Given the description of an element on the screen output the (x, y) to click on. 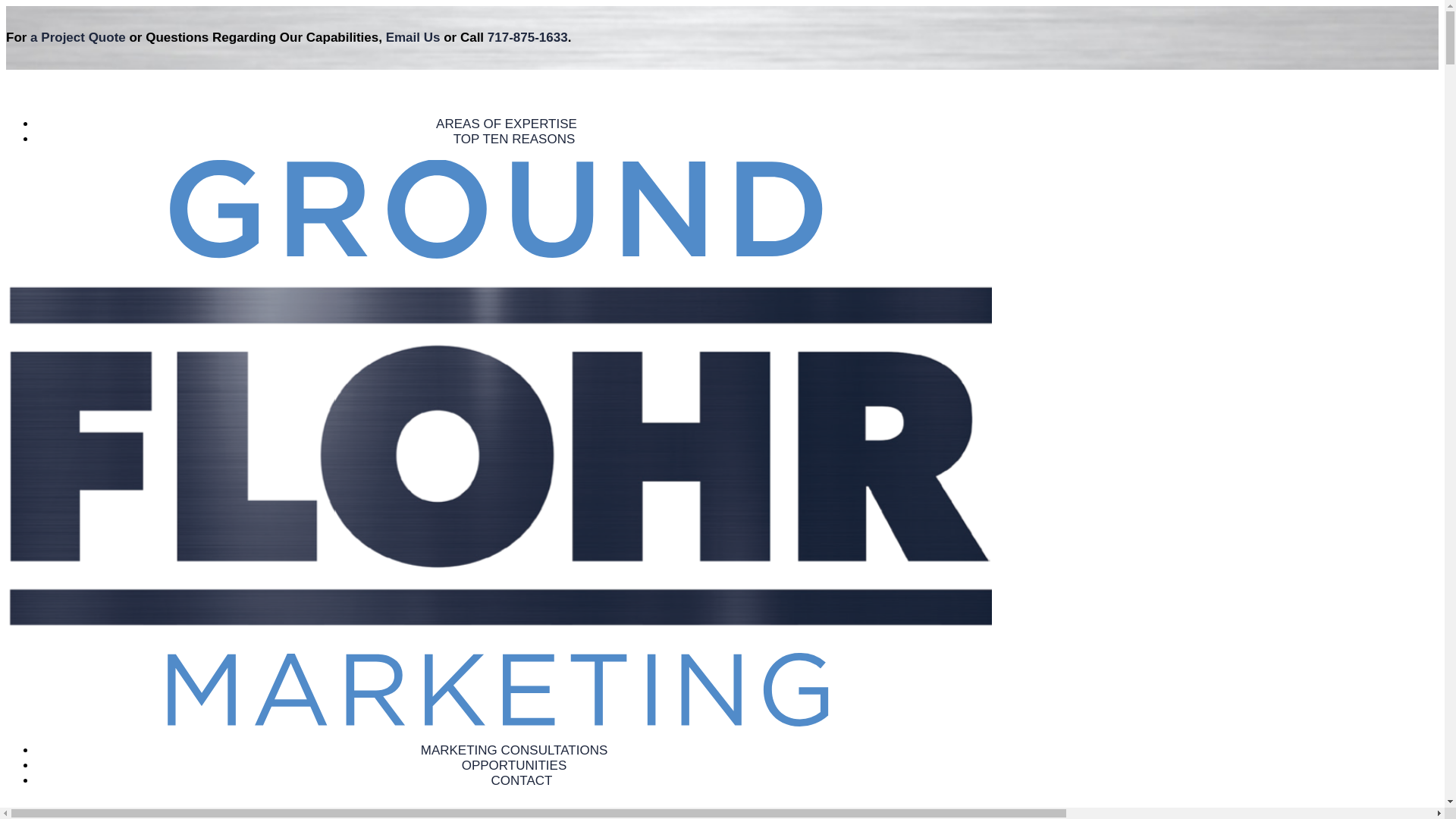
a Project Quote (77, 37)
CONTACT (522, 780)
AREAS OF EXPERTISE (505, 124)
Email Us (413, 37)
TOP TEN REASONS (513, 138)
MARKETING CONSULTATIONS (514, 749)
717-875-1633 (527, 37)
OPPORTUNITIES (514, 765)
